Given the description of an element on the screen output the (x, y) to click on. 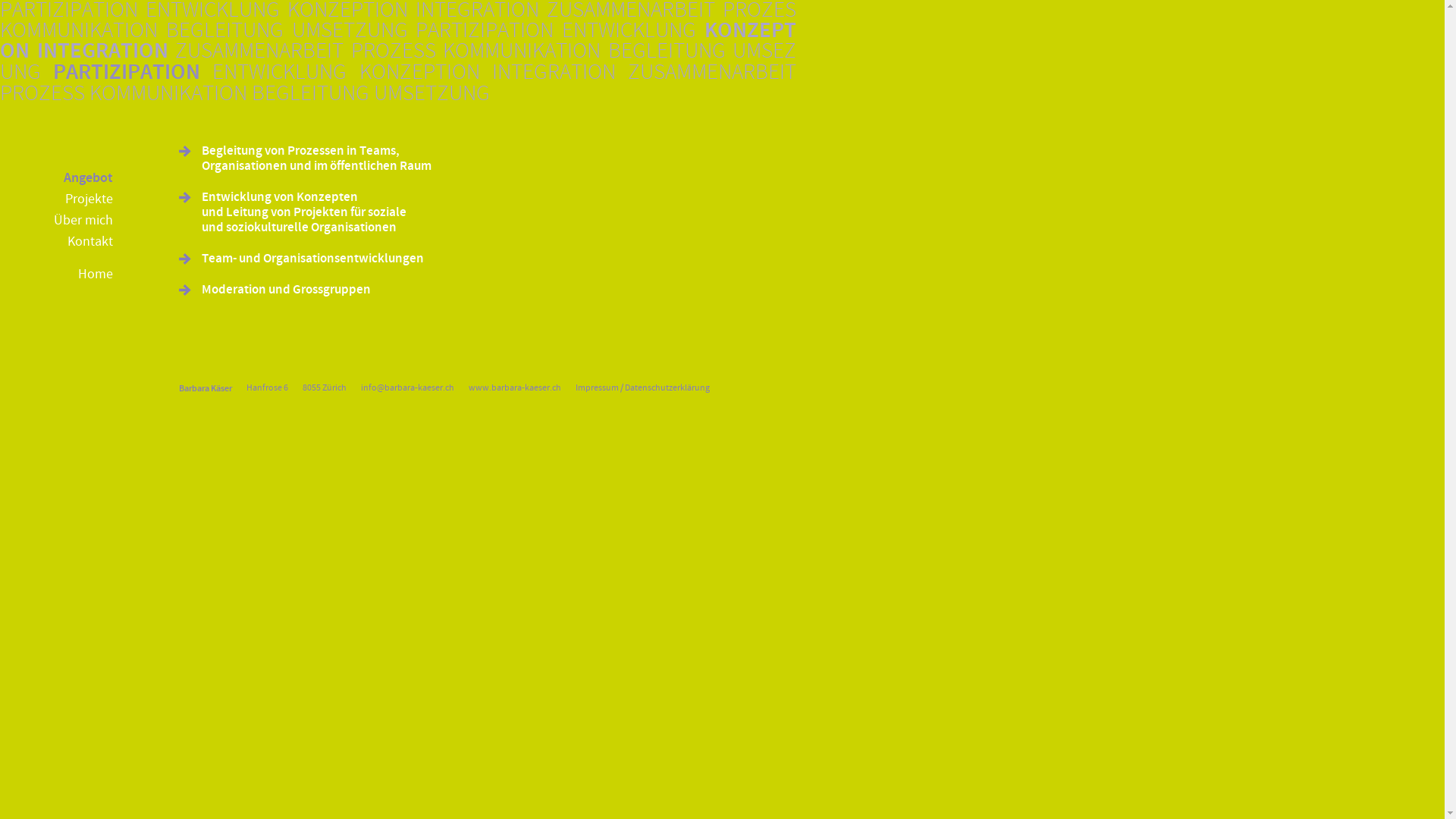
www.barbara-kaeser.ch Element type: text (514, 387)
Angebot Element type: text (56, 177)
Projekte Element type: text (56, 199)
Kontakt Element type: text (56, 241)
info@barbara-kaeser.ch Element type: text (407, 387)
Home Element type: text (56, 274)
